Given the description of an element on the screen output the (x, y) to click on. 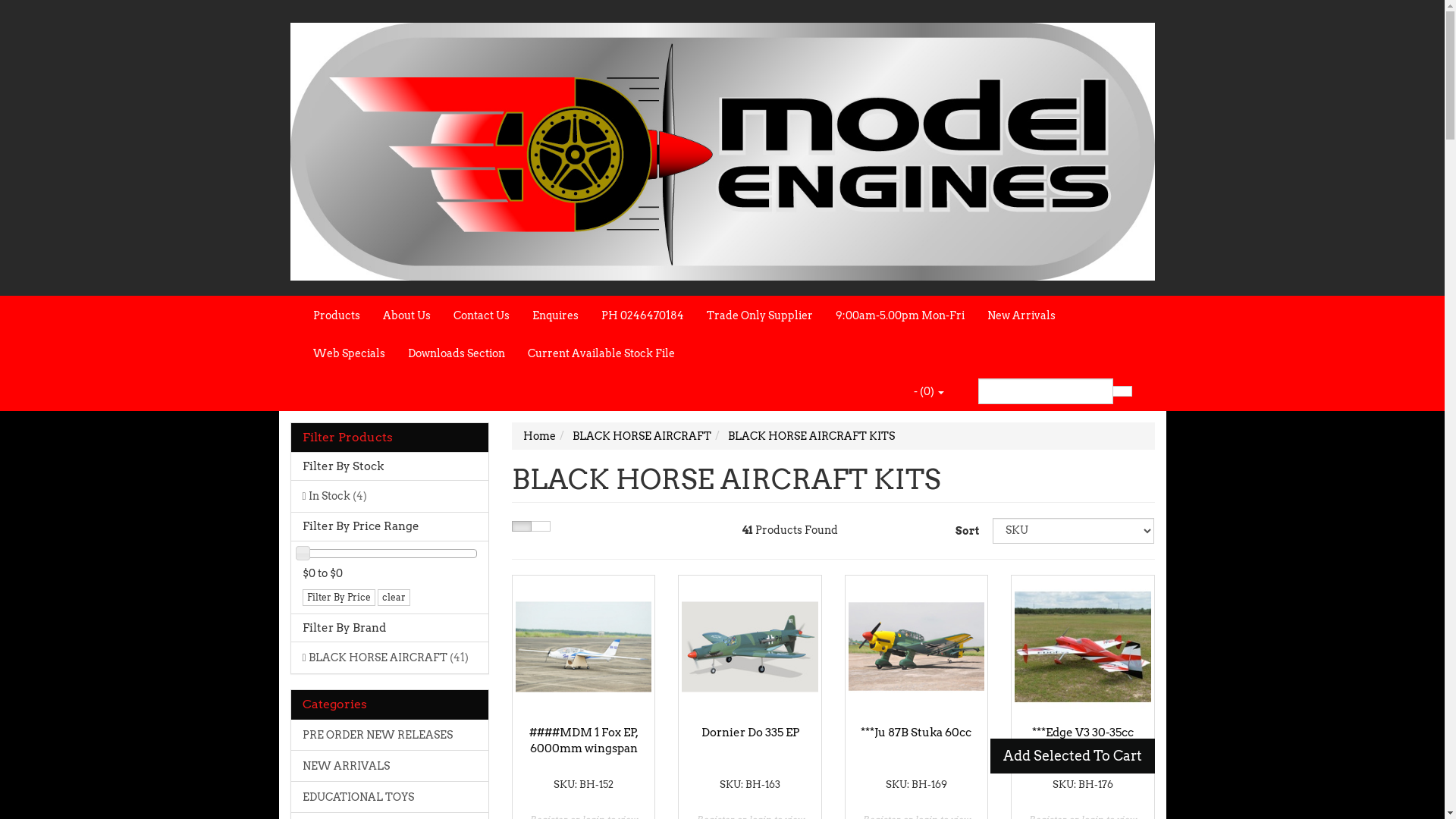
Downloads Section Element type: text (455, 353)
Enquires Element type: text (554, 315)
PRE ORDER NEW RELEASES Element type: text (390, 734)
About Us Element type: text (406, 315)
Contact Us Element type: text (480, 315)
####MDM 1 Fox EP, 6000mm wingspan Element type: text (583, 740)
BLACK HORSE AIRCRAFT KITS Element type: text (811, 435)
BLACK HORSE AIRCRAFT Element type: text (641, 435)
Filter Products Element type: text (388, 437)
BLACK HORSE AIRCRAFT (41) Element type: text (390, 657)
Home Element type: text (539, 435)
9:00am-5.00pm Mon-Fri Element type: text (899, 315)
In Stock (4) Element type: text (390, 495)
***Ju 87B Stuka 60cc Element type: text (915, 732)
Current Available Stock File Element type: text (600, 353)
clear Element type: text (393, 597)
Dornier Do 335 EP Element type: text (750, 732)
Trade Only Supplier Element type: text (758, 315)
New Arrivals Element type: text (1020, 315)
Filter By Price Element type: text (337, 597)
Products Element type: text (336, 315)
EDUCATIONAL TOYS Element type: text (390, 796)
MODEL ENGINES AUST PTY LTD Element type: hover (721, 147)
- (0) Element type: text (928, 391)
***Edge V3 30-35cc Element type: text (1082, 732)
Add Selected To Cart Element type: text (1072, 755)
Search Element type: text (1121, 390)
PH 0246470184 Element type: text (642, 315)
Web Specials Element type: text (348, 353)
NEW ARRIVALS Element type: text (390, 765)
